Given the description of an element on the screen output the (x, y) to click on. 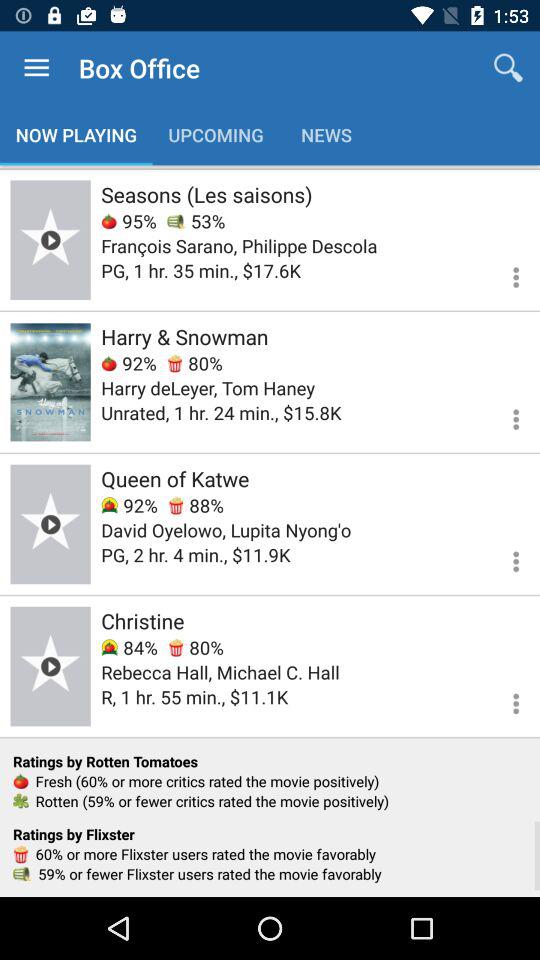
play trailer (50, 524)
